Given the description of an element on the screen output the (x, y) to click on. 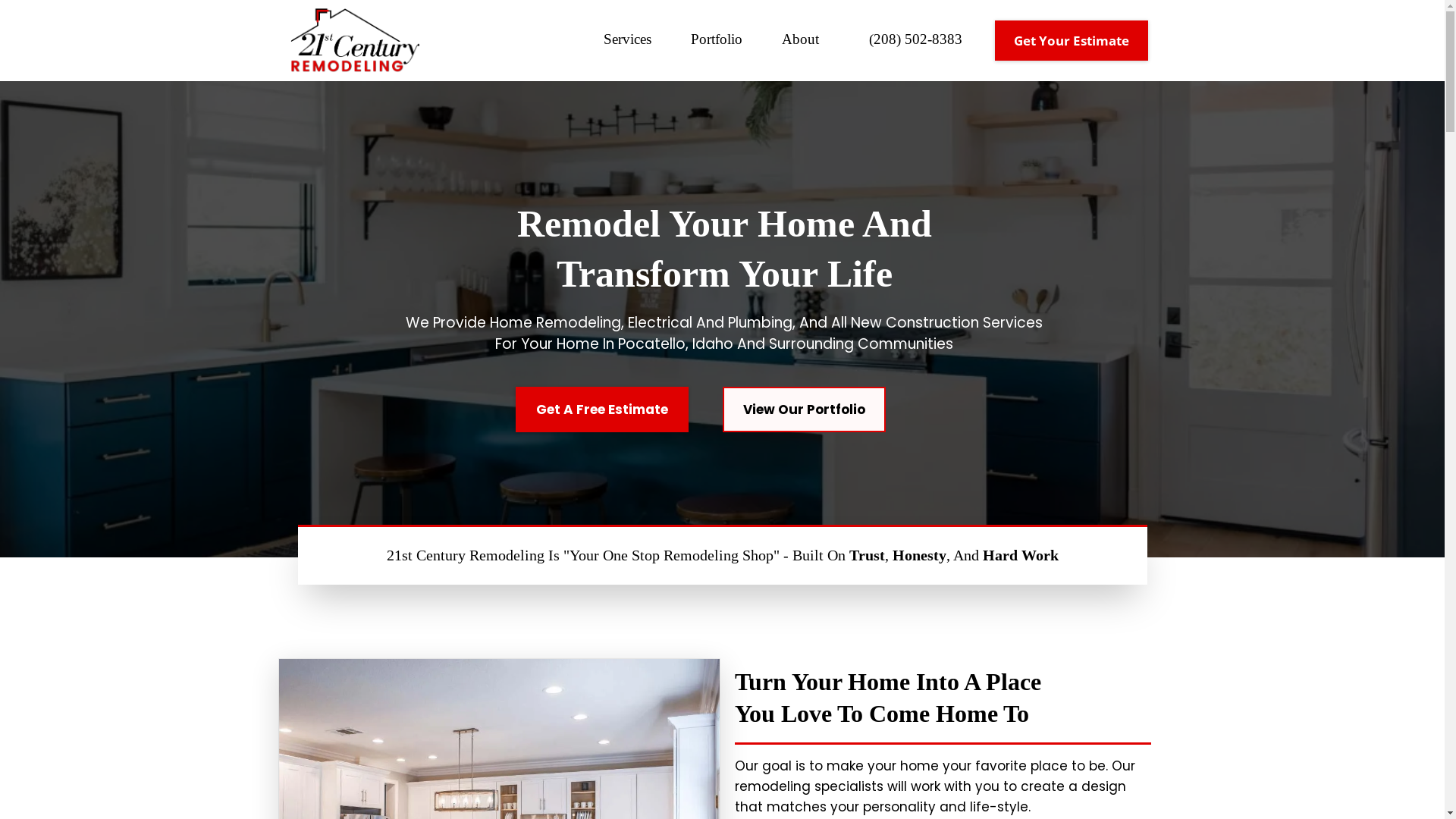
About Element type: text (800, 40)
View Our Portfolio Element type: text (802, 409)
Services Element type: text (627, 40)
Portfolio Element type: text (716, 40)
(208) 502-8383 Element type: text (915, 40)
Get A Free Estimate Element type: text (601, 409)
Get Your Estimate Element type: text (1071, 40)
